Given the description of an element on the screen output the (x, y) to click on. 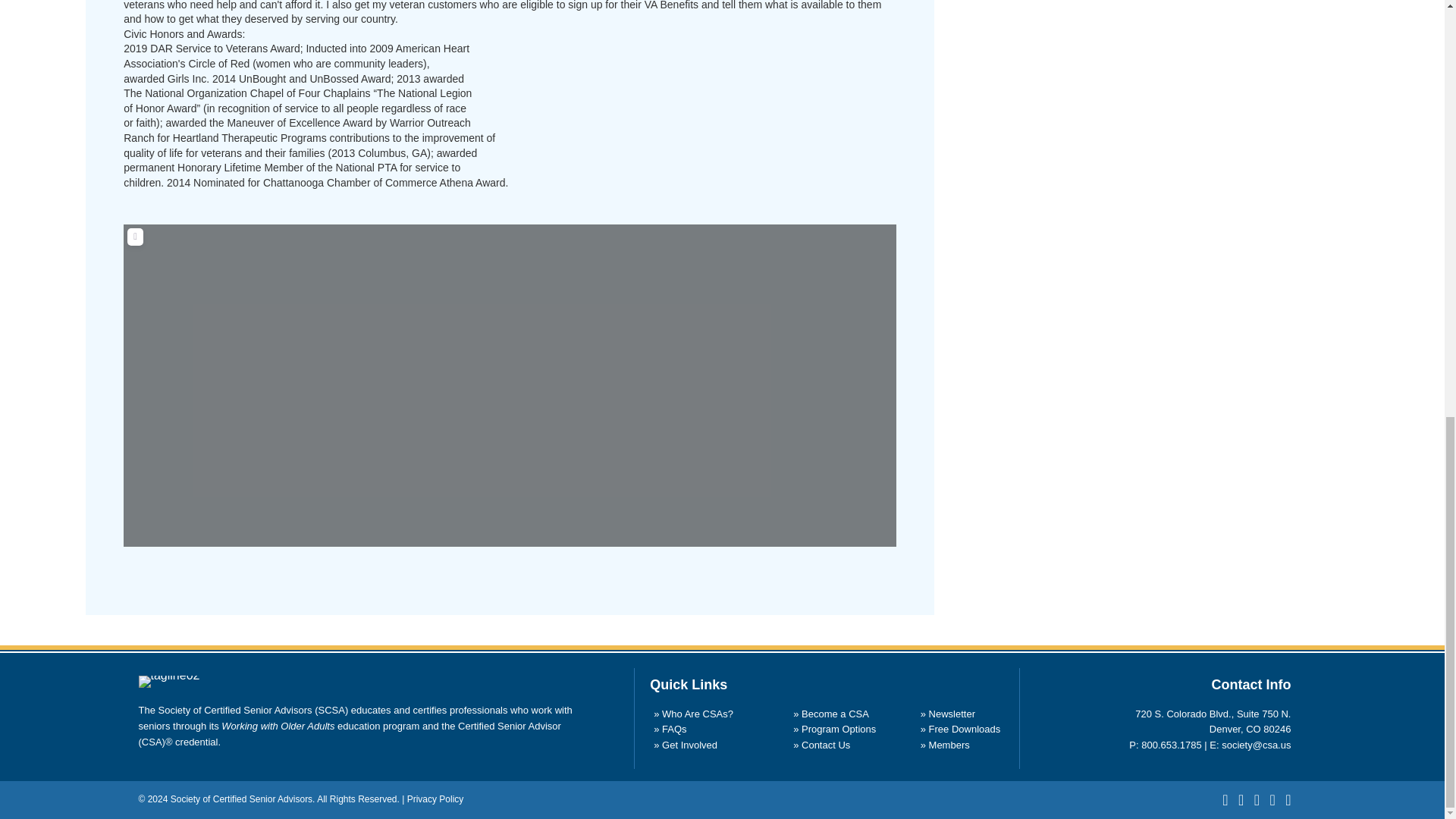
tagline02 (168, 681)
